Given the description of an element on the screen output the (x, y) to click on. 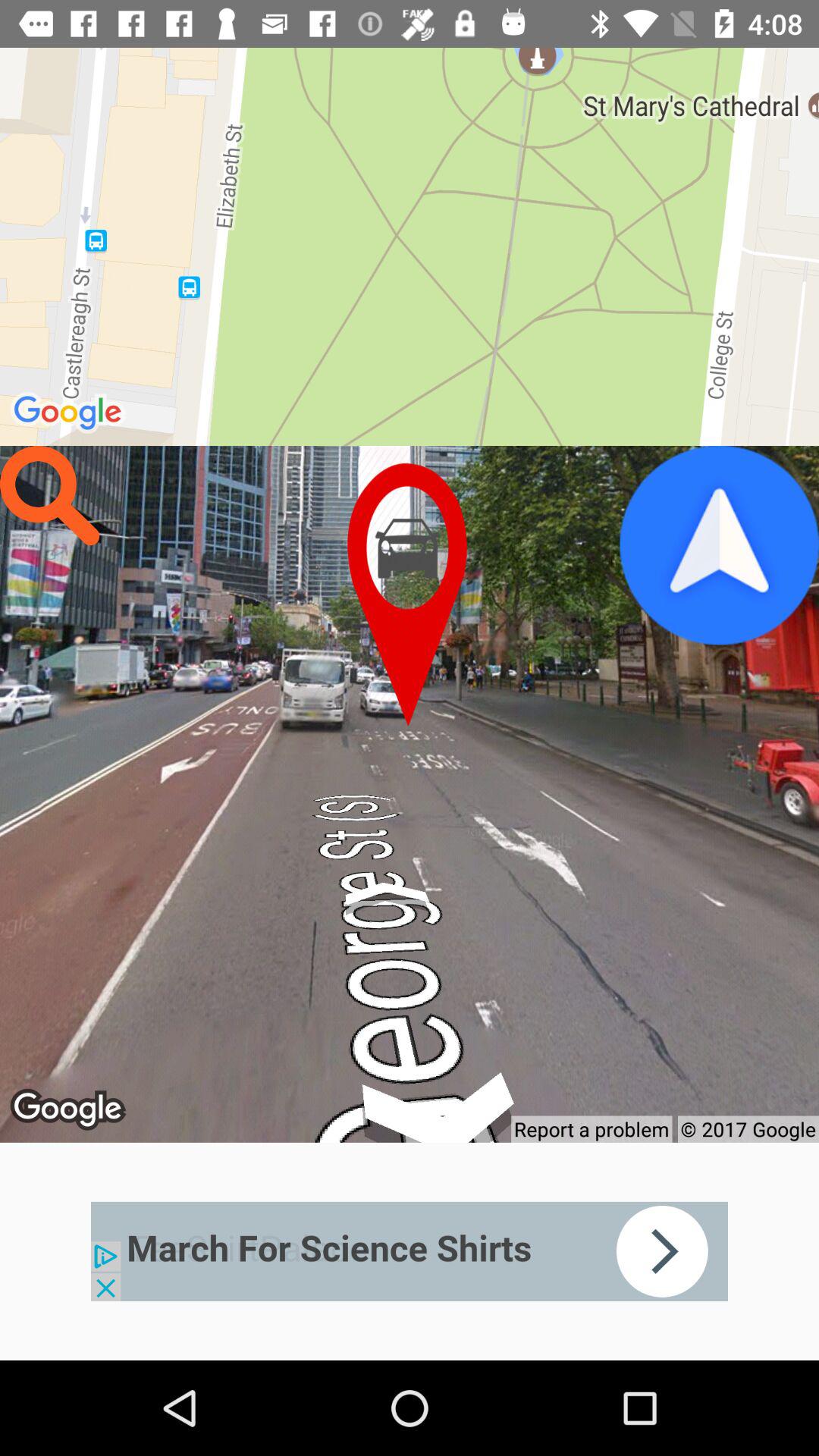
view advertisement (409, 1251)
